Given the description of an element on the screen output the (x, y) to click on. 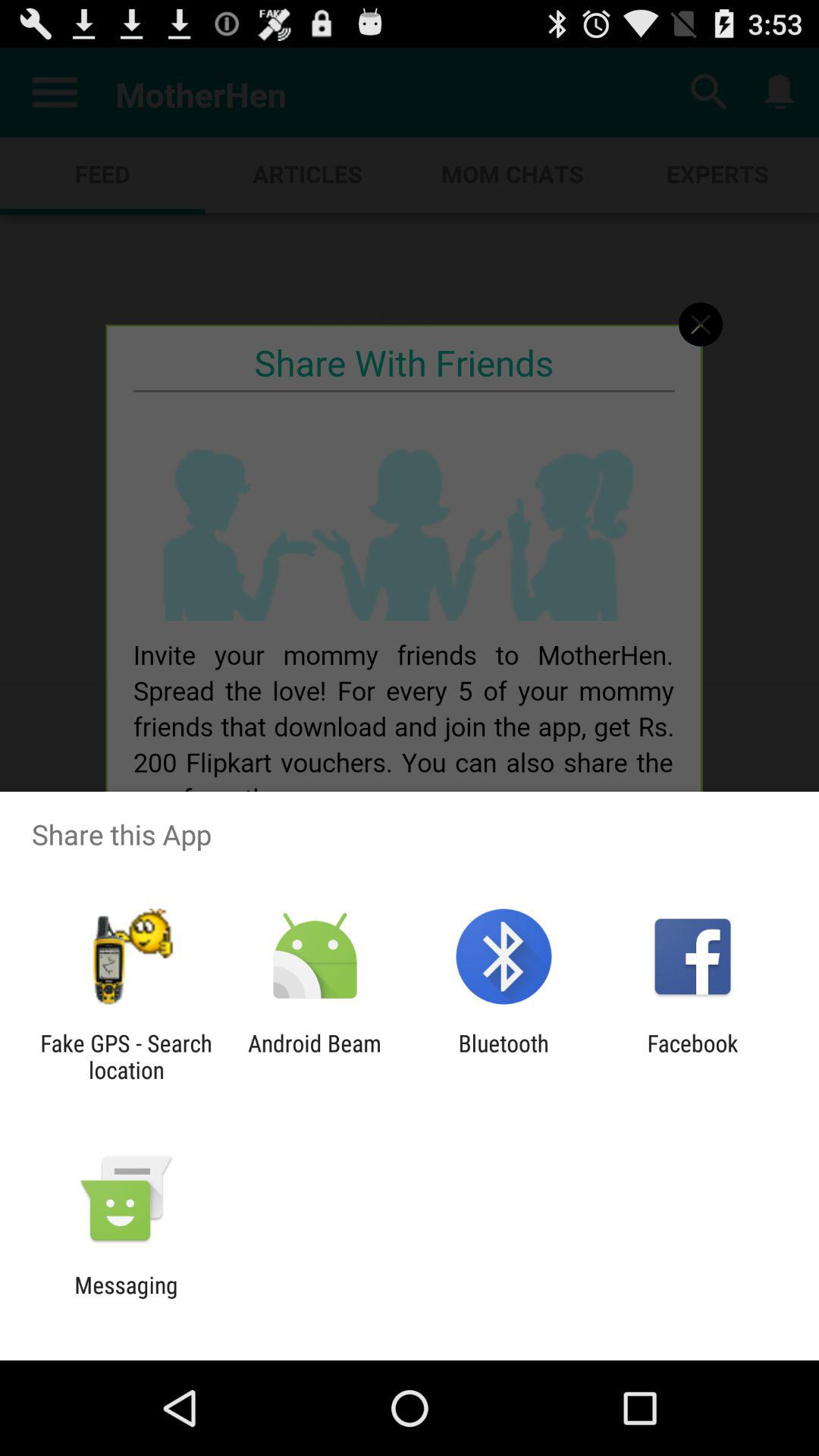
choose the item at the bottom right corner (692, 1056)
